Given the description of an element on the screen output the (x, y) to click on. 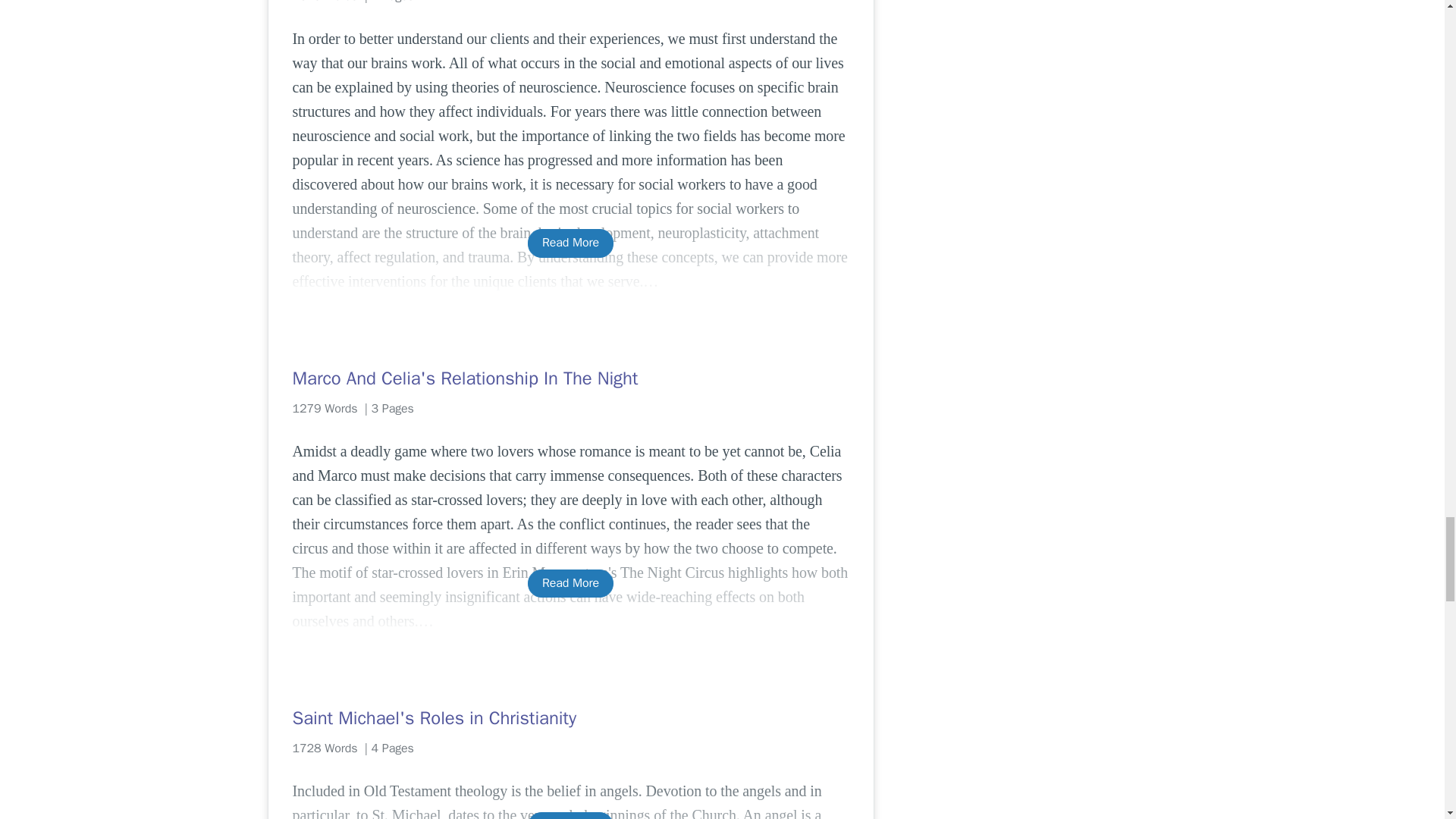
Saint Michael's Roles in Christianity (570, 717)
Marco And Celia's Relationship In The Night (570, 378)
Read More (569, 243)
Read More (569, 583)
Read More (569, 815)
